Given the description of an element on the screen output the (x, y) to click on. 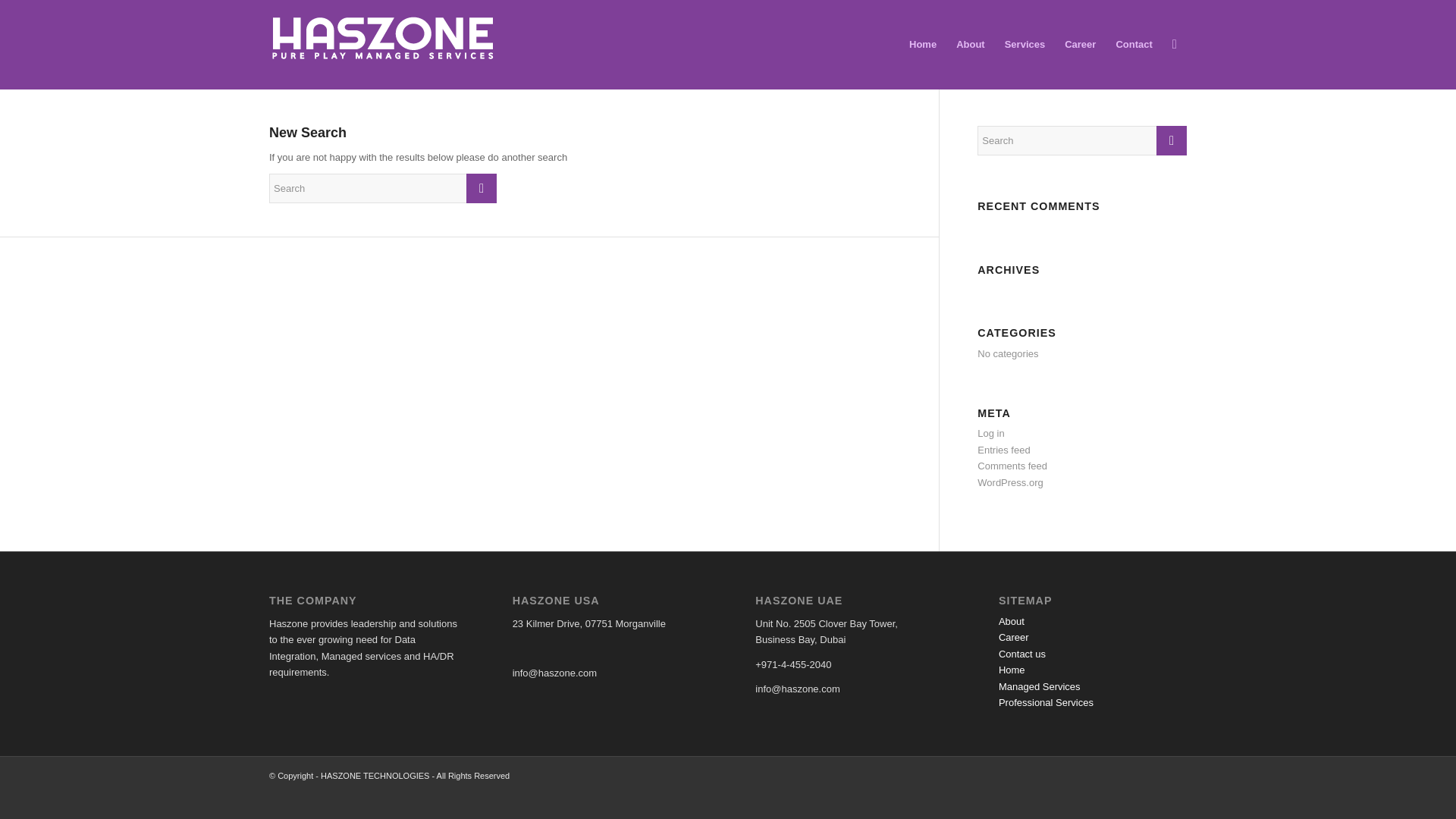
Comments feed (1011, 465)
About (1011, 621)
Contact us (1021, 654)
WordPress.org (1009, 482)
Log in (990, 432)
Professional Services (1045, 702)
Home (1011, 669)
Managed Services (1039, 686)
haszone-logo-01 (382, 38)
Entries feed (1002, 449)
Career (1013, 636)
